Given the description of an element on the screen output the (x, y) to click on. 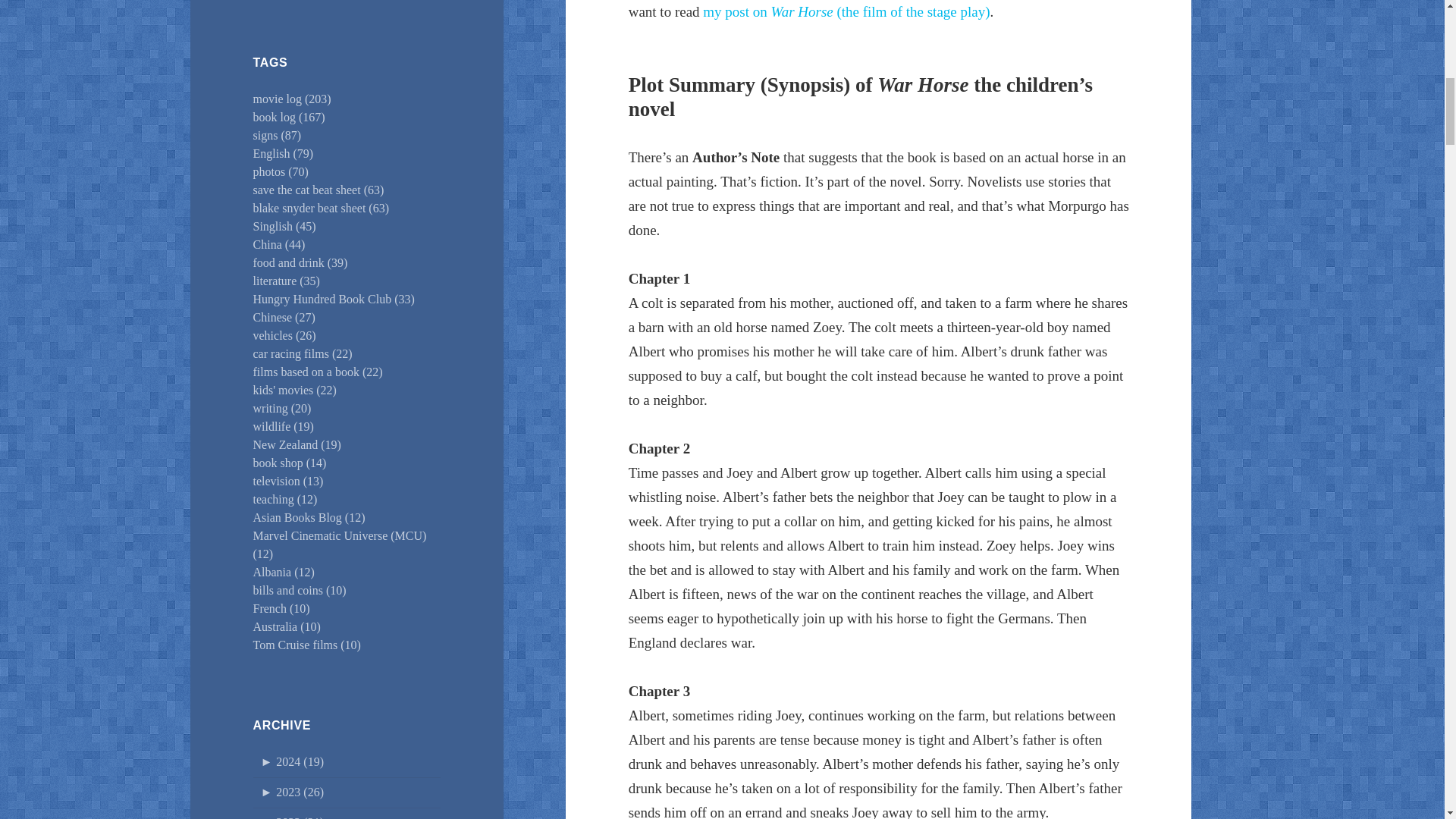
2022 (292, 817)
2024 (292, 761)
2023 (292, 791)
